Given the description of an element on the screen output the (x, y) to click on. 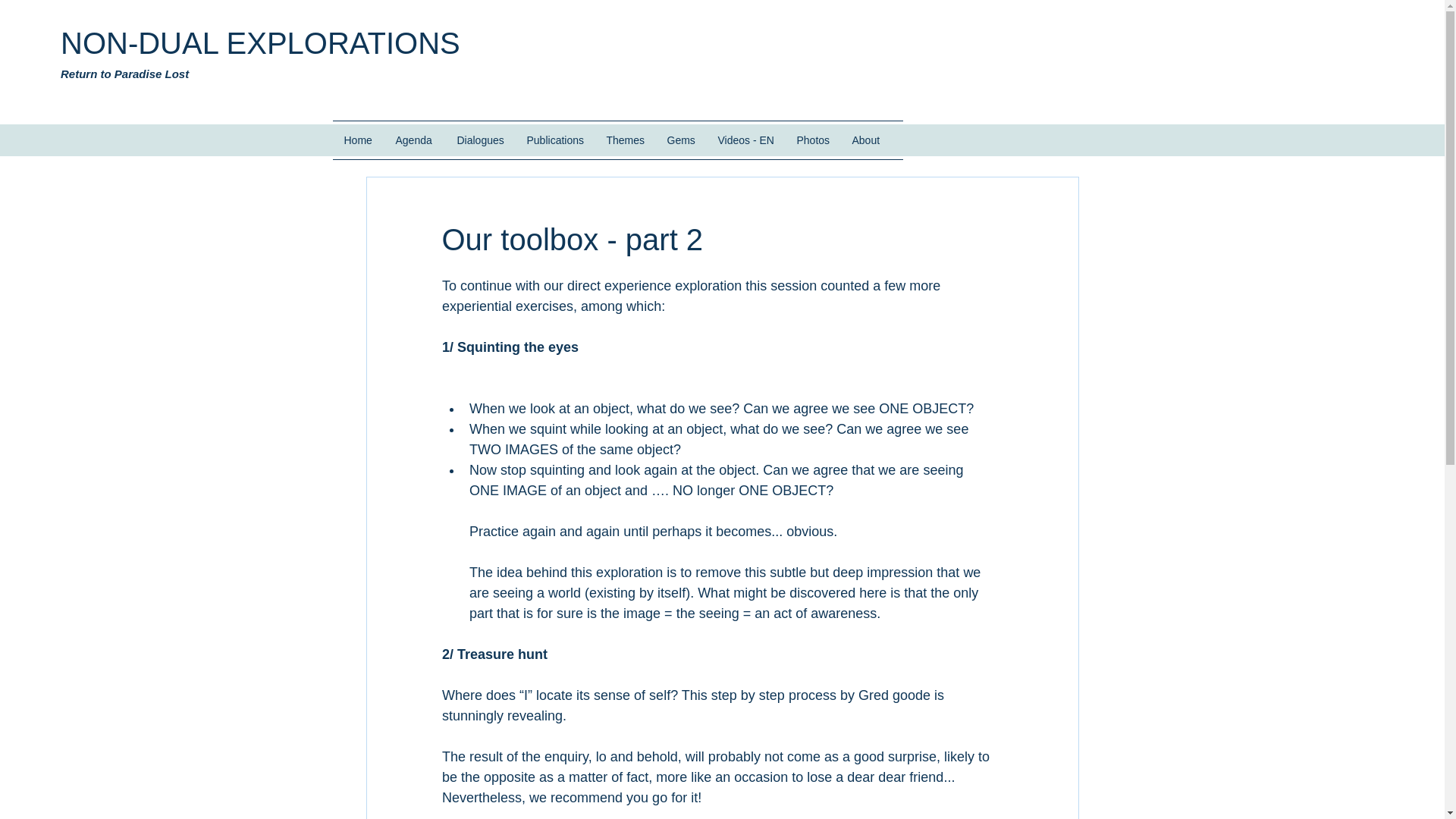
Dialogues (480, 139)
Themes (624, 139)
NON-DUAL EXPLORATIONS (260, 42)
Gems (680, 139)
Photos (813, 139)
About (866, 139)
Videos - EN (746, 139)
Home (357, 139)
Agenda (414, 139)
Publications (555, 139)
